Given the description of an element on the screen output the (x, y) to click on. 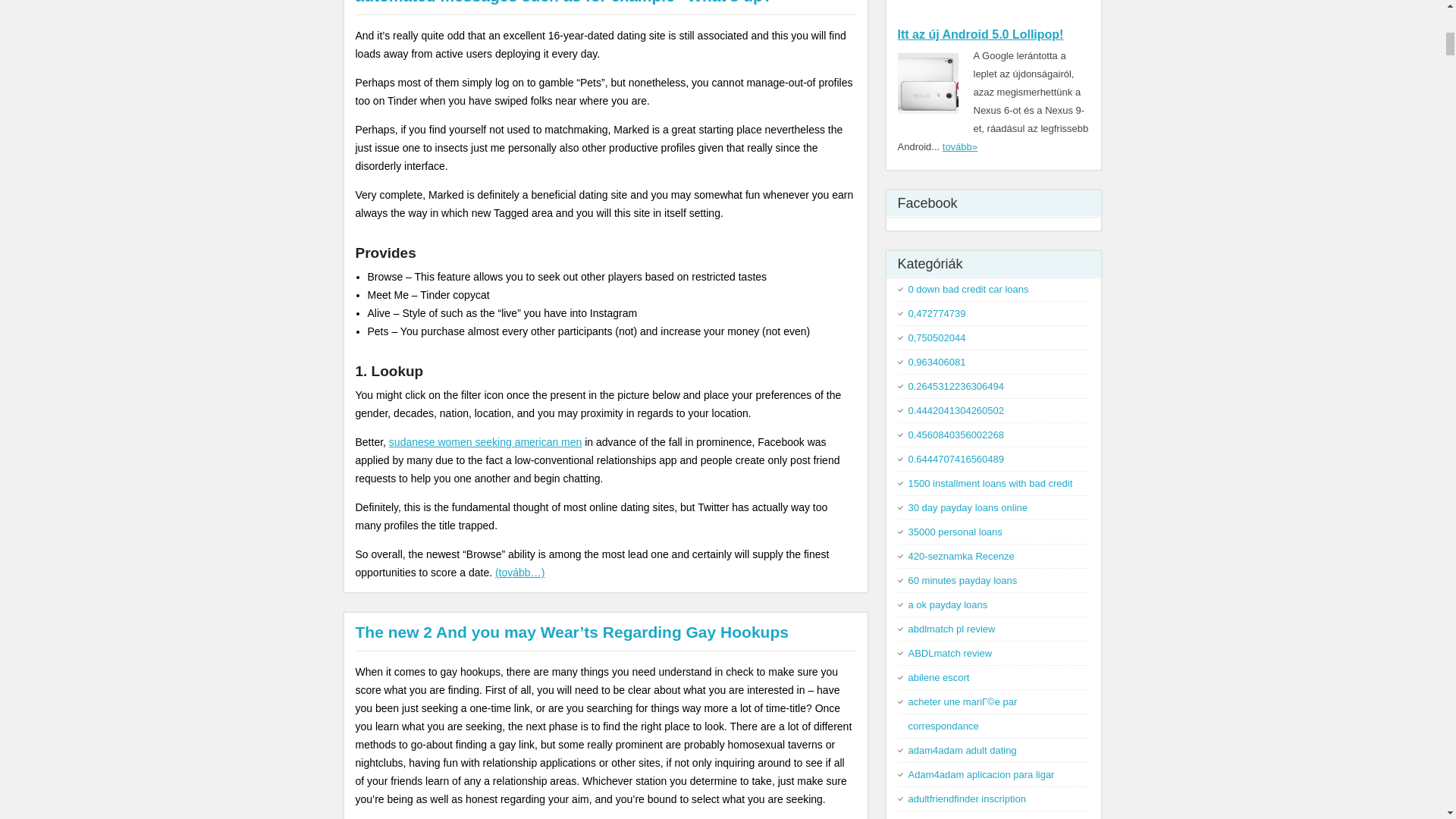
60 minutes payday loans (962, 580)
35000 personal loans (955, 531)
abdlmatch pl review (951, 628)
ABDLmatch review (950, 653)
0,750502044 (937, 337)
0.6444707416560489 (956, 459)
30 day payday loans online (967, 507)
1500 installment loans with bad credit (990, 482)
a ok payday loans (948, 604)
0.4442041304260502 (956, 410)
0,963406081 (937, 361)
adam4adam adult dating (962, 749)
sudanese women seeking american men (484, 441)
0 down bad credit car loans (968, 288)
0.4560840356002268 (956, 434)
